Given the description of an element on the screen output the (x, y) to click on. 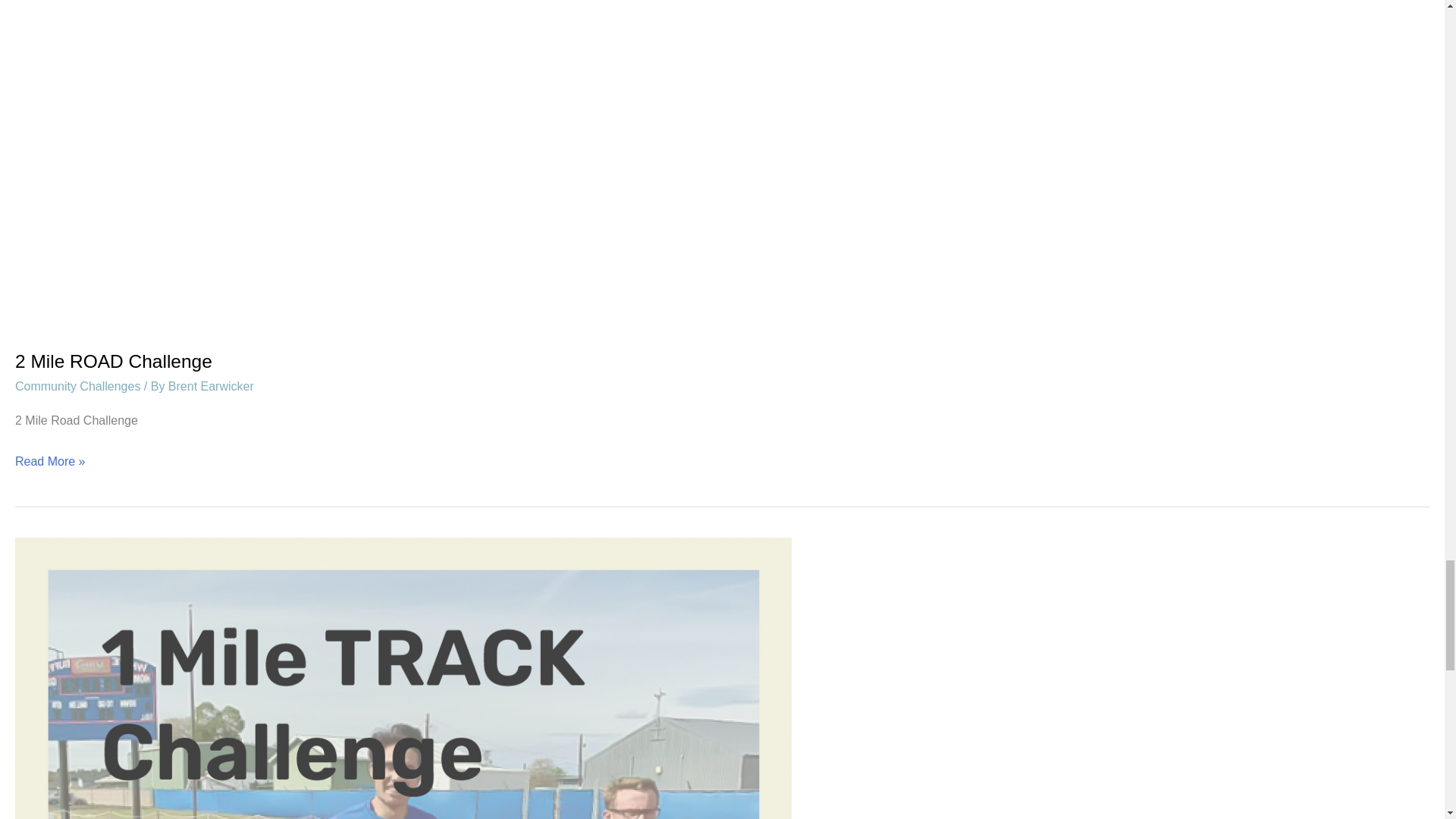
View all posts by Brent Earwicker (210, 386)
